Given the description of an element on the screen output the (x, y) to click on. 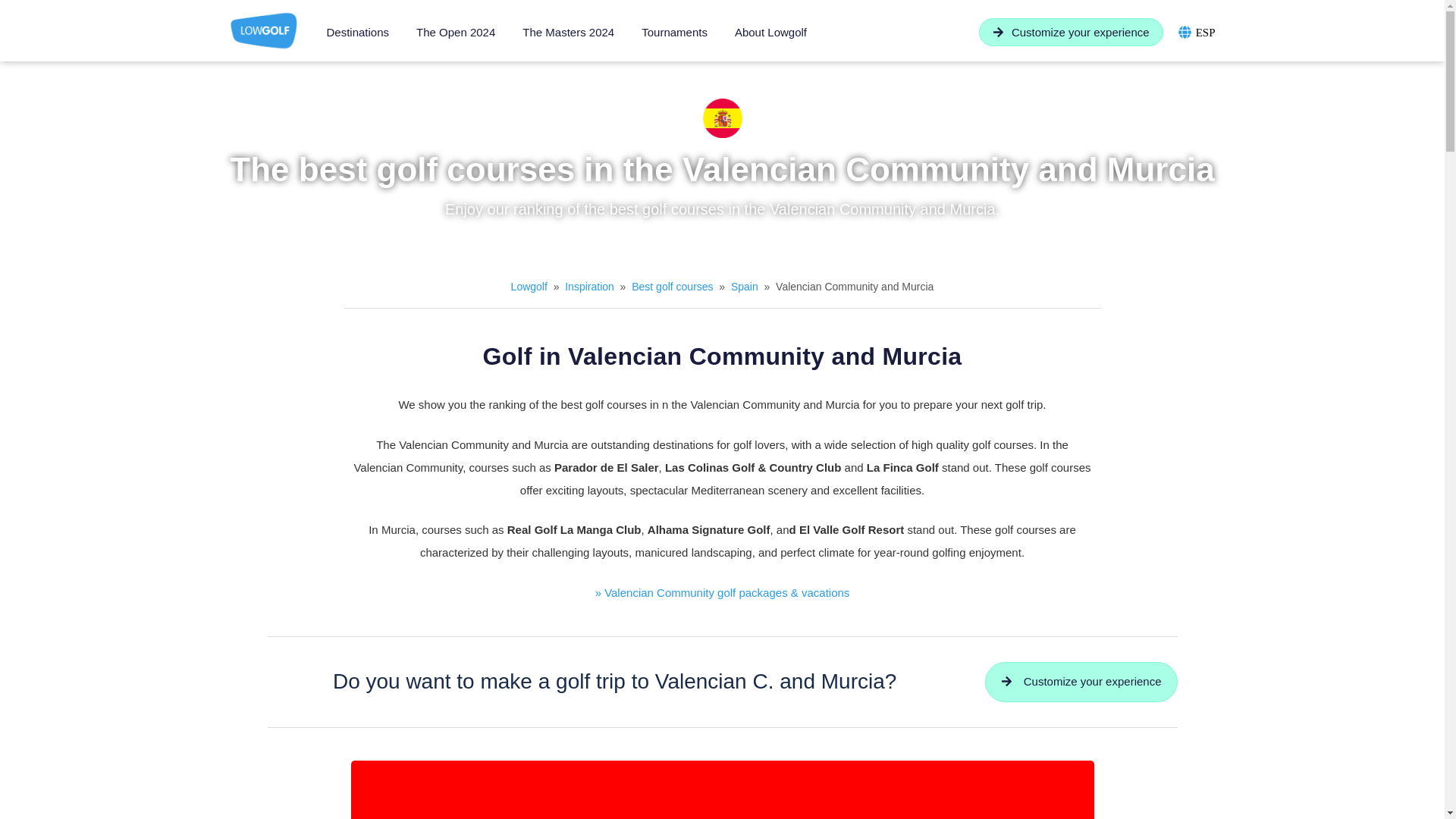
Customize your experience (1070, 31)
The Masters 2024 (567, 32)
Destinations (358, 32)
About Lowgolf (770, 32)
Tournaments (673, 32)
The Open 2024 (455, 32)
the best golf courses in the valencian community and murcia (721, 118)
ESP (1205, 32)
